Given the description of an element on the screen output the (x, y) to click on. 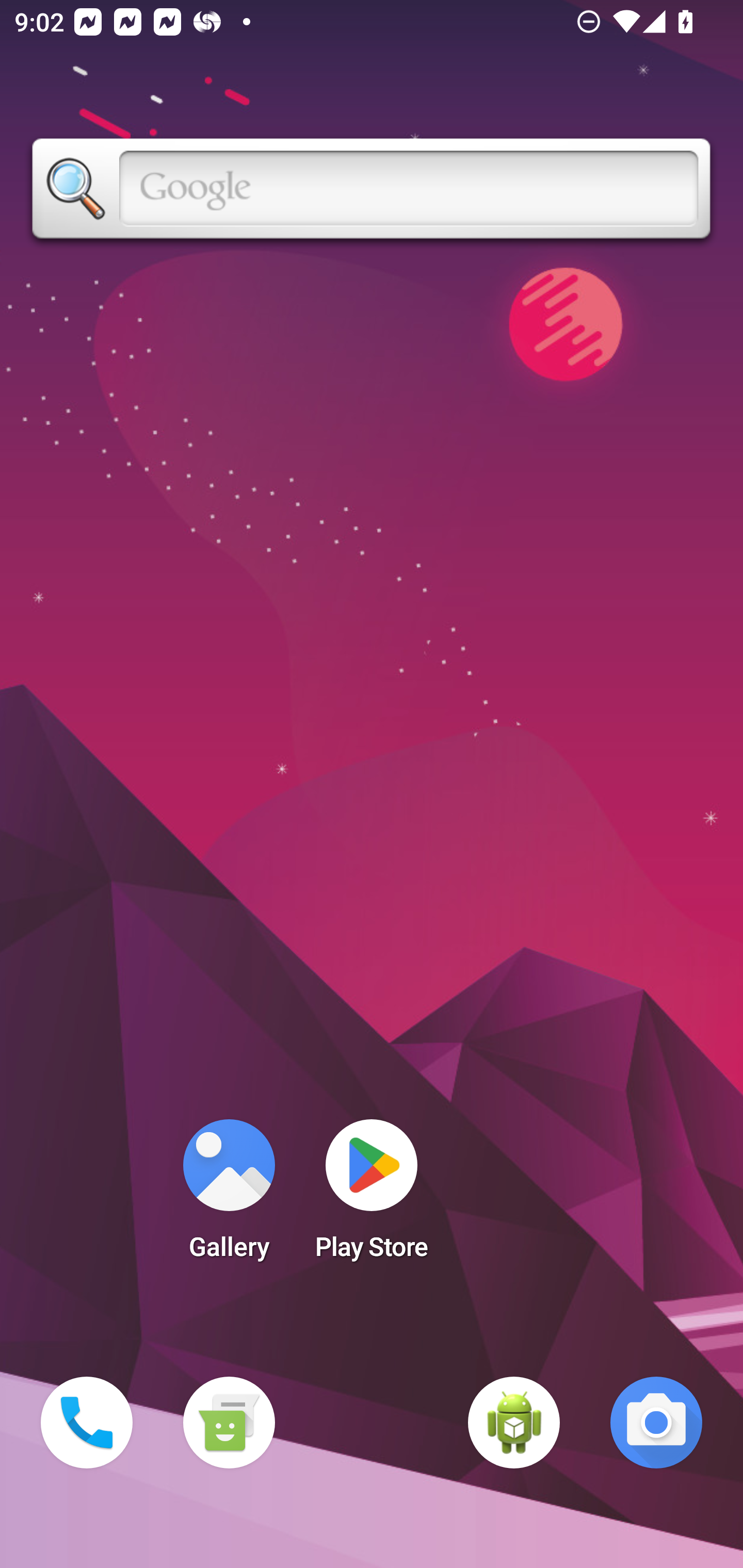
Gallery (228, 1195)
Play Store (371, 1195)
Phone (86, 1422)
Messaging (228, 1422)
WebView Browser Tester (513, 1422)
Camera (656, 1422)
